Given the description of an element on the screen output the (x, y) to click on. 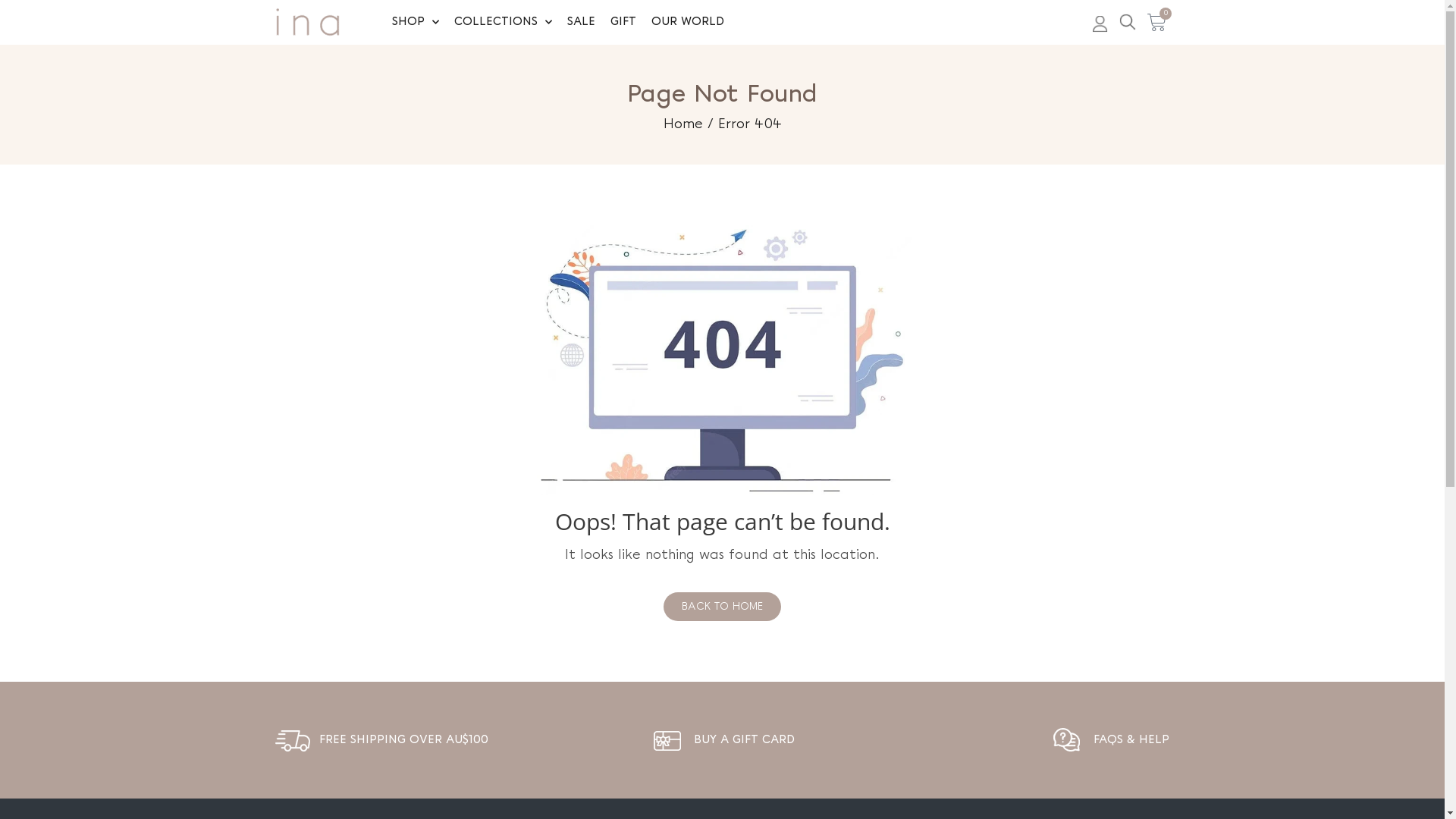
0 Element type: text (1156, 22)
COLLECTIONS Element type: text (502, 21)
FREE SHIPPING OVER AU$100 Element type: text (402, 740)
Home Element type: text (682, 123)
BUY A GIFT CARD Element type: text (743, 740)
SHOP Element type: text (415, 21)
OUR WORLD Element type: text (687, 21)
FAQS & HELP Element type: text (1131, 740)
BACK TO HOME Element type: text (722, 606)
GIFT Element type: text (622, 21)
SALE Element type: text (580, 21)
